Given the description of an element on the screen output the (x, y) to click on. 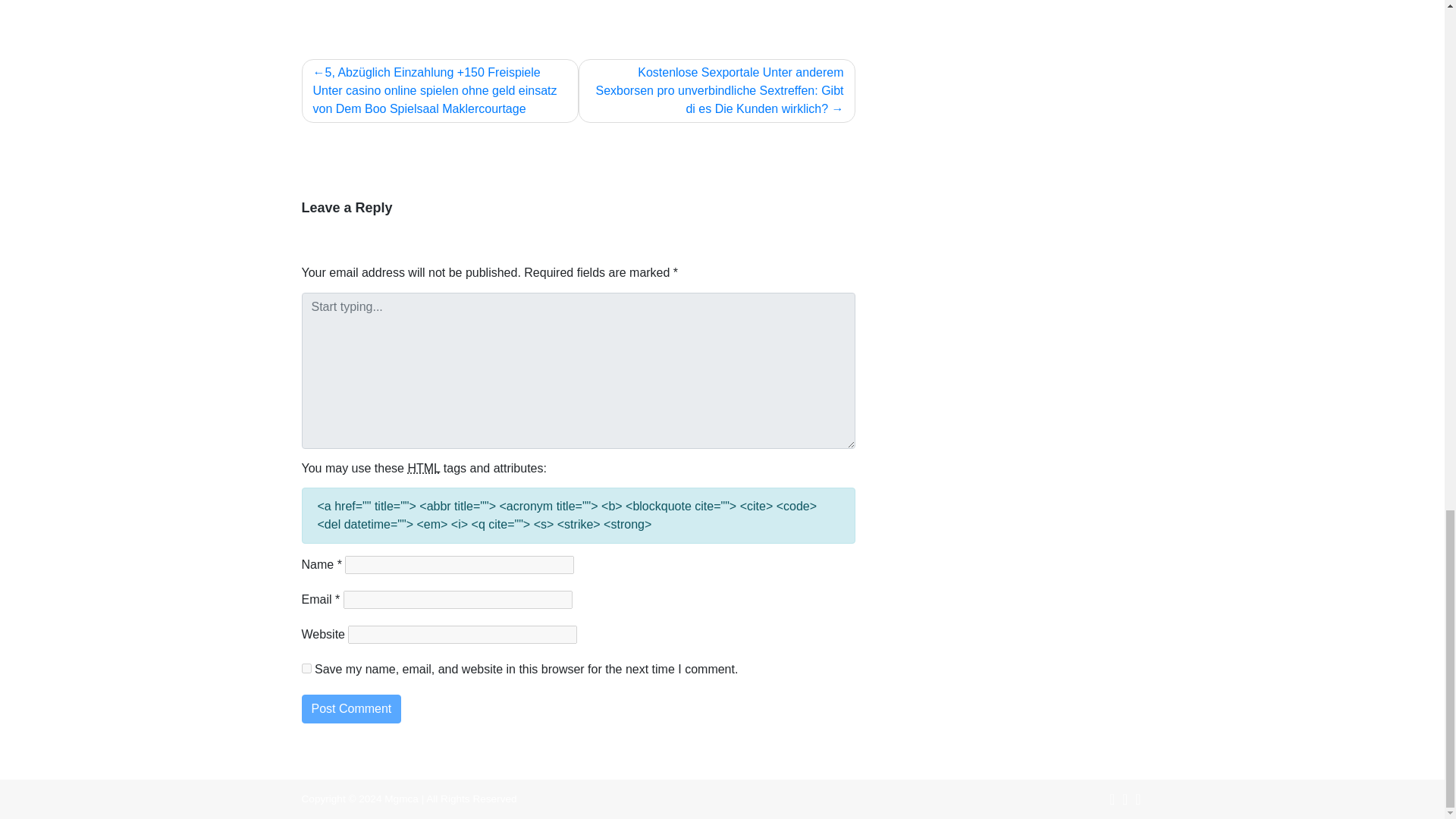
HyperText Markup Language (423, 468)
Post Comment (351, 708)
Mgmca (401, 798)
yes (306, 668)
Post Comment (351, 708)
